Given the description of an element on the screen output the (x, y) to click on. 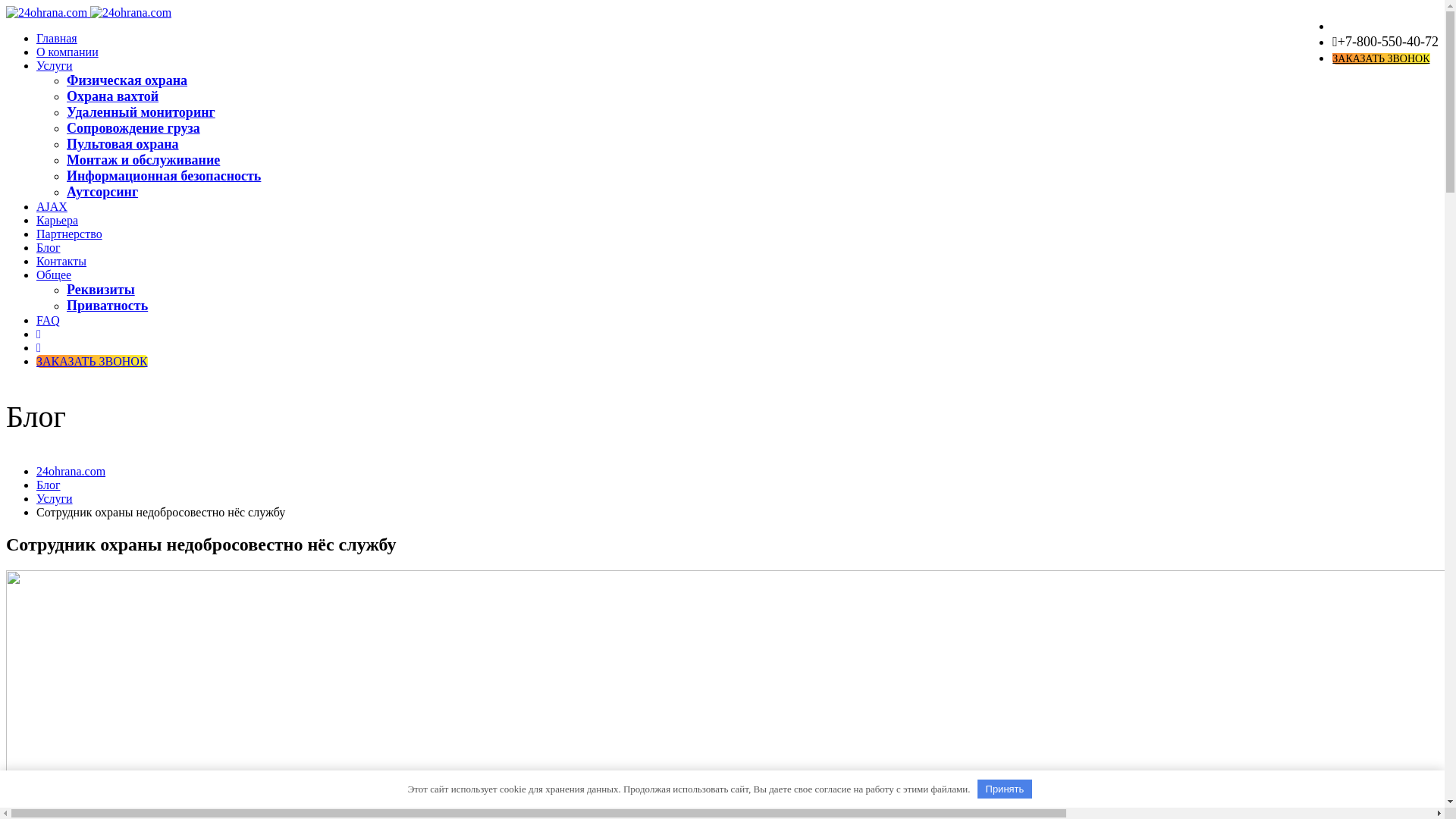
WhatsApp Element type: hover (38, 347)
AJAX Element type: text (51, 206)
24ohrana.com Element type: text (70, 470)
Instagram Element type: hover (38, 333)
FAQ Element type: text (47, 319)
